Given the description of an element on the screen output the (x, y) to click on. 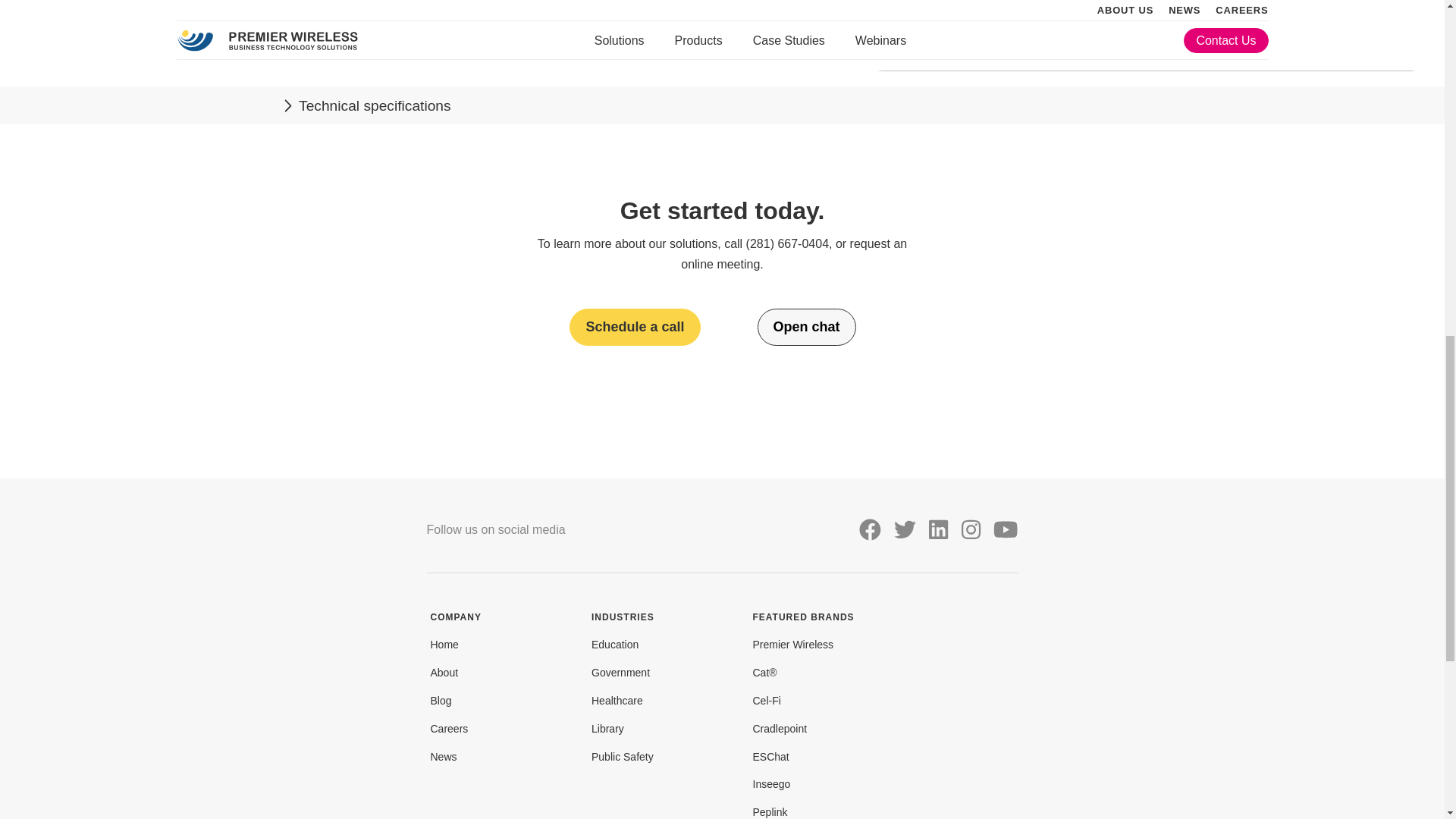
Healthcare (617, 700)
ESChat (770, 756)
Blog (440, 700)
About (444, 672)
Cel-Fi (766, 700)
Cradlepoint (779, 728)
News (443, 756)
Education (615, 644)
Public Safety (622, 756)
Government (620, 672)
Schedule a call (634, 326)
Inseego (771, 784)
Home (444, 644)
Library (607, 728)
Careers (449, 728)
